Given the description of an element on the screen output the (x, y) to click on. 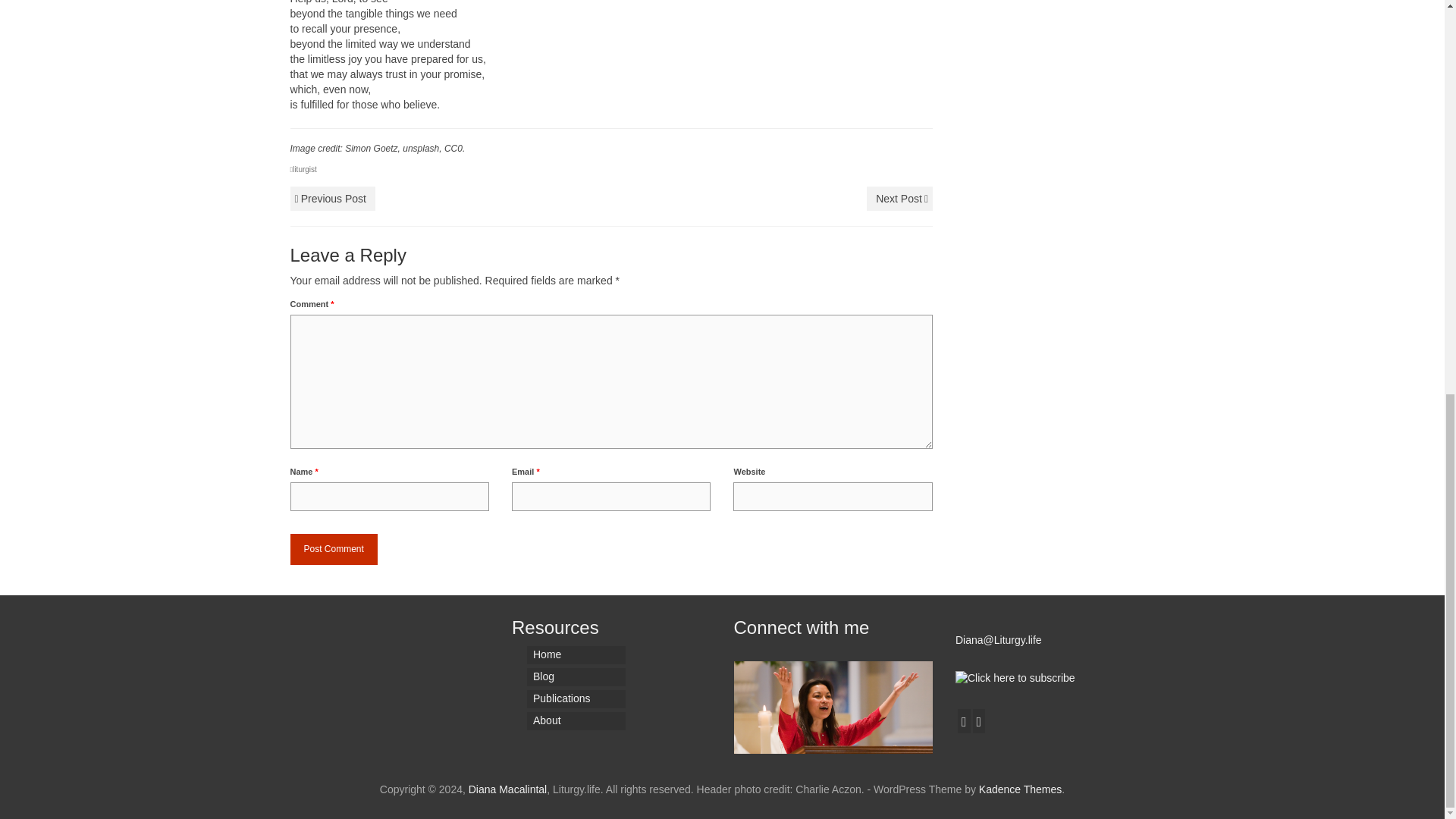
Home (576, 655)
Diana Macalintal (507, 788)
Post Comment (333, 549)
liturgist (304, 169)
Previous Post (332, 198)
Next Post (899, 198)
Blog (576, 677)
About (576, 720)
Publications (576, 699)
Post Comment (333, 549)
Kadence Themes (1019, 788)
